Given the description of an element on the screen output the (x, y) to click on. 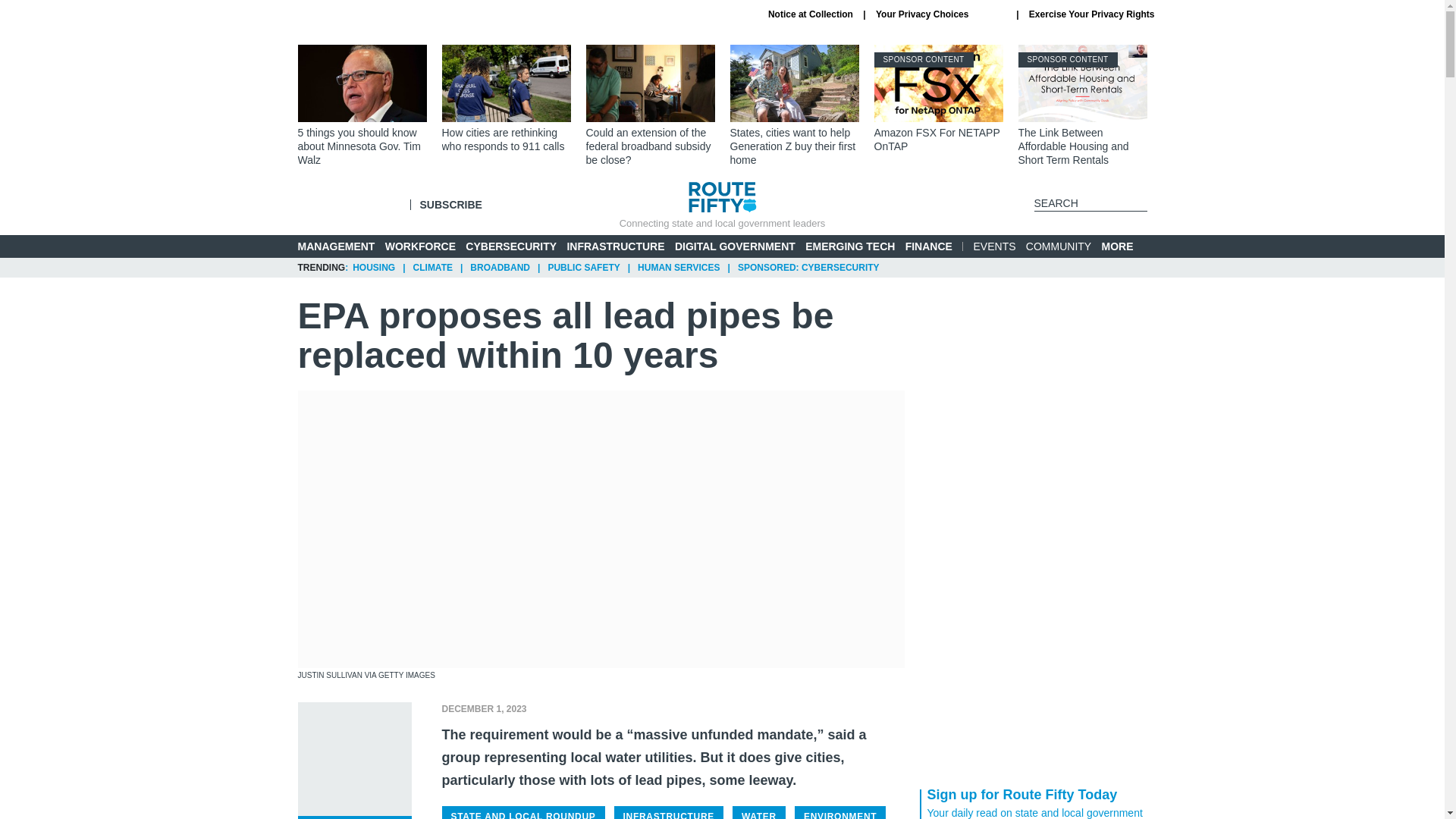
Your Privacy Choices (938, 99)
COMMUNITY (941, 14)
EVENTS (1058, 246)
SUBSCRIBE (995, 246)
INFRASTRUCTURE (450, 204)
EMERGING TECH (614, 246)
DIGITAL GOVERNMENT (850, 246)
